Given the description of an element on the screen output the (x, y) to click on. 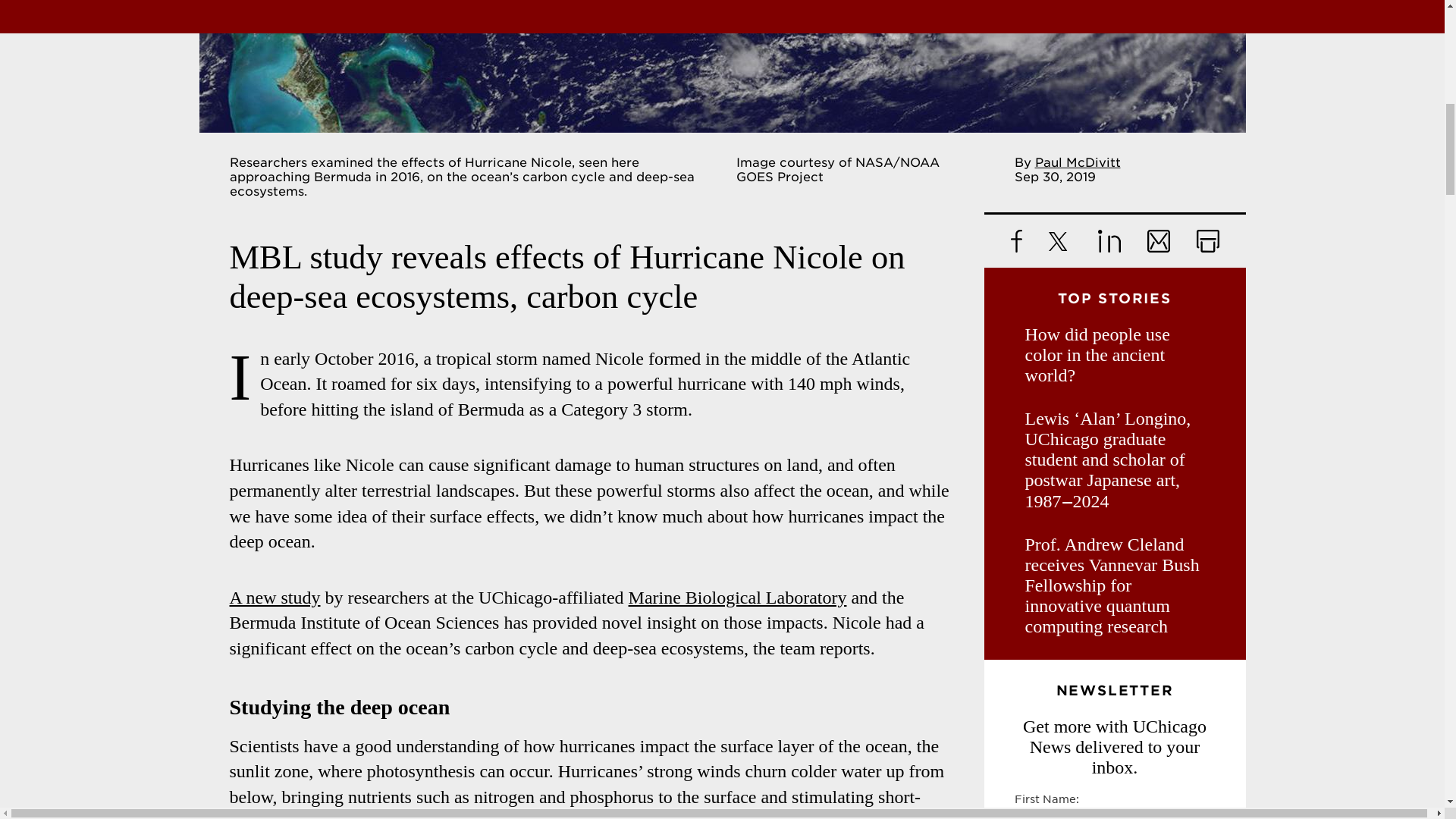
How did people use color in the ancient world? (1115, 354)
A new study (274, 597)
Share as an Email (1158, 241)
Paul McDivitt (1076, 162)
Print Content (1208, 241)
Marine Biological Laboratory (737, 597)
X (1059, 240)
LinkedIn (1109, 241)
